Given the description of an element on the screen output the (x, y) to click on. 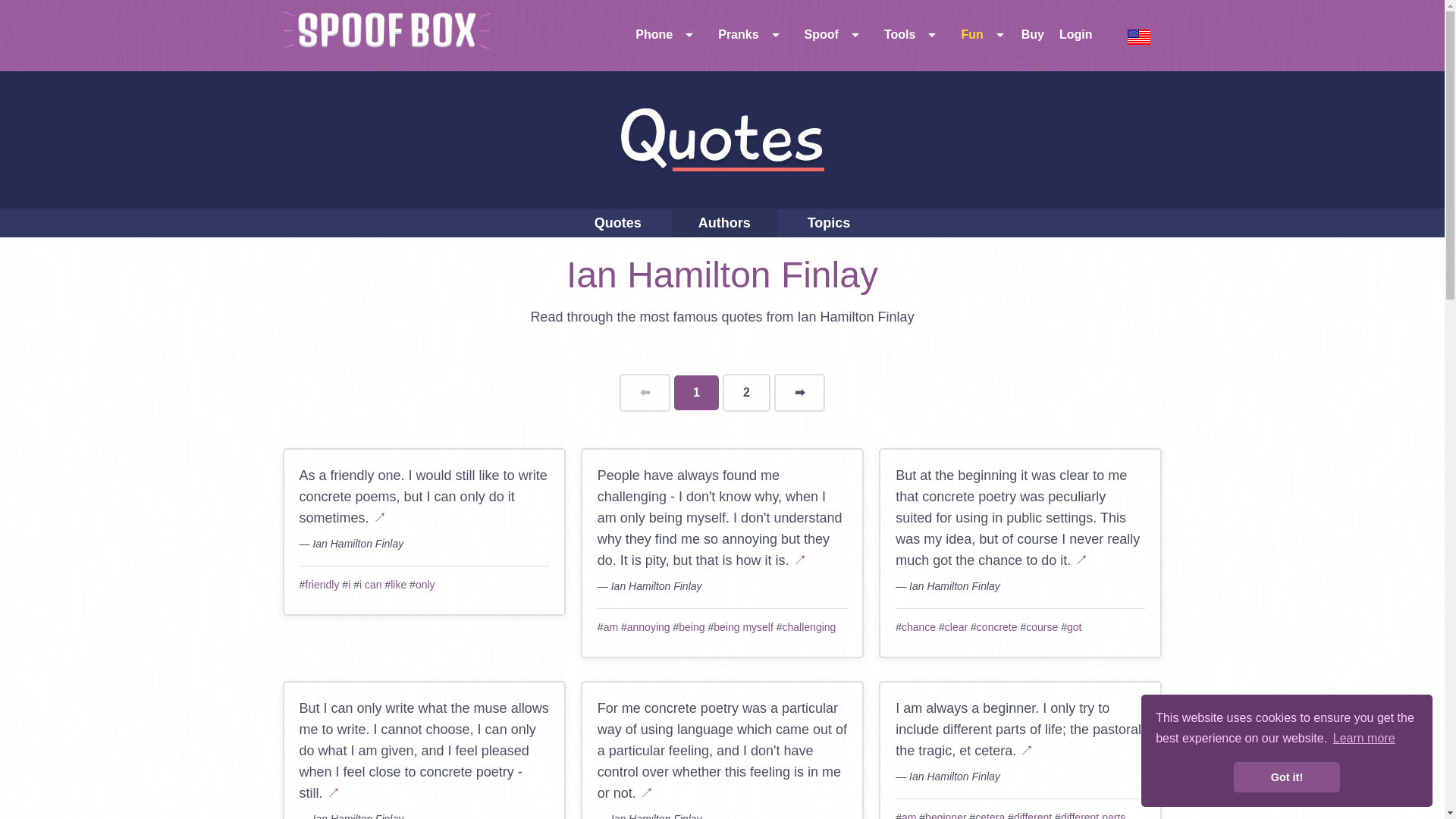
Change language (1138, 35)
Got it! (1286, 777)
Learn more (1363, 738)
